Given the description of an element on the screen output the (x, y) to click on. 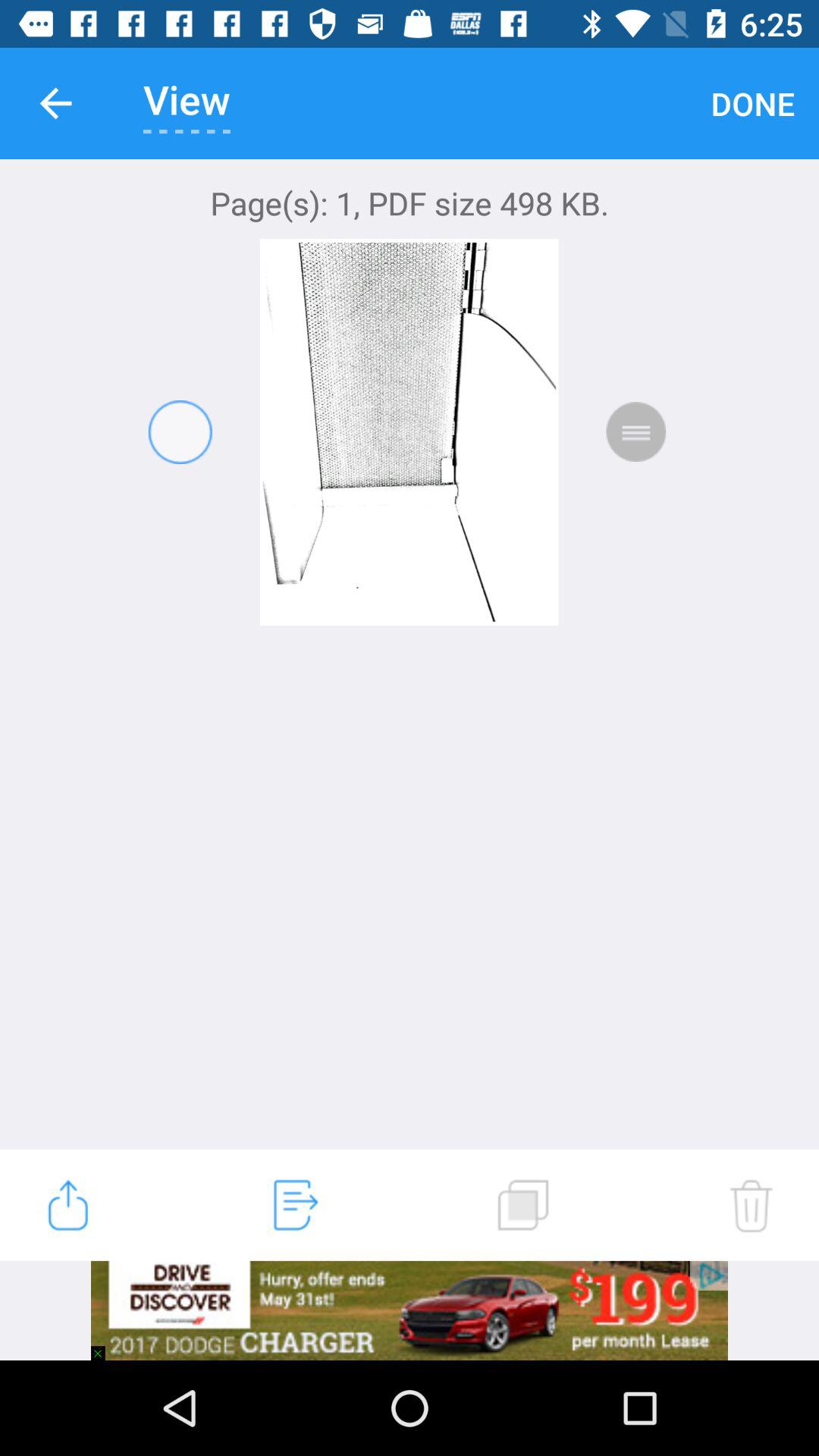
press the icon below the page s 1 icon (751, 1204)
